Given the description of an element on the screen output the (x, y) to click on. 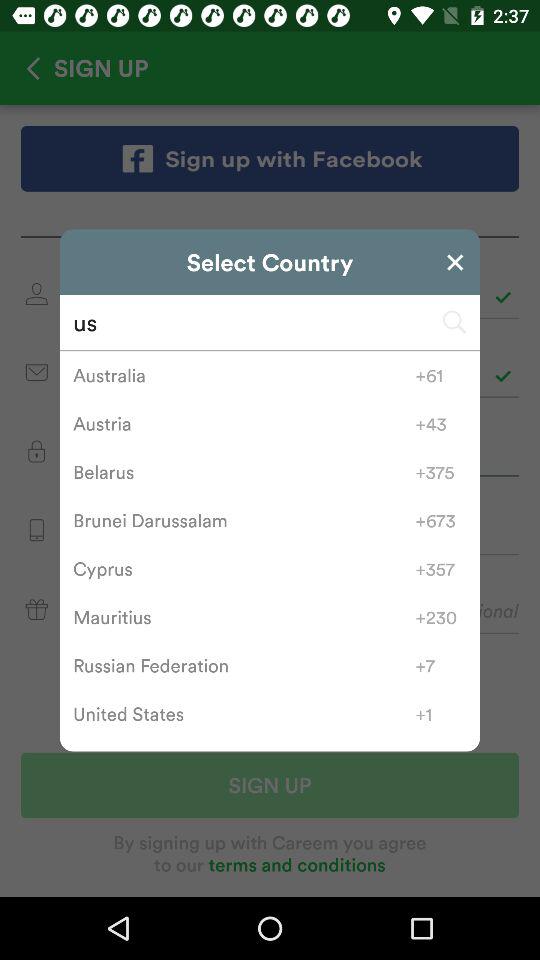
scroll to australia icon (244, 375)
